Given the description of an element on the screen output the (x, y) to click on. 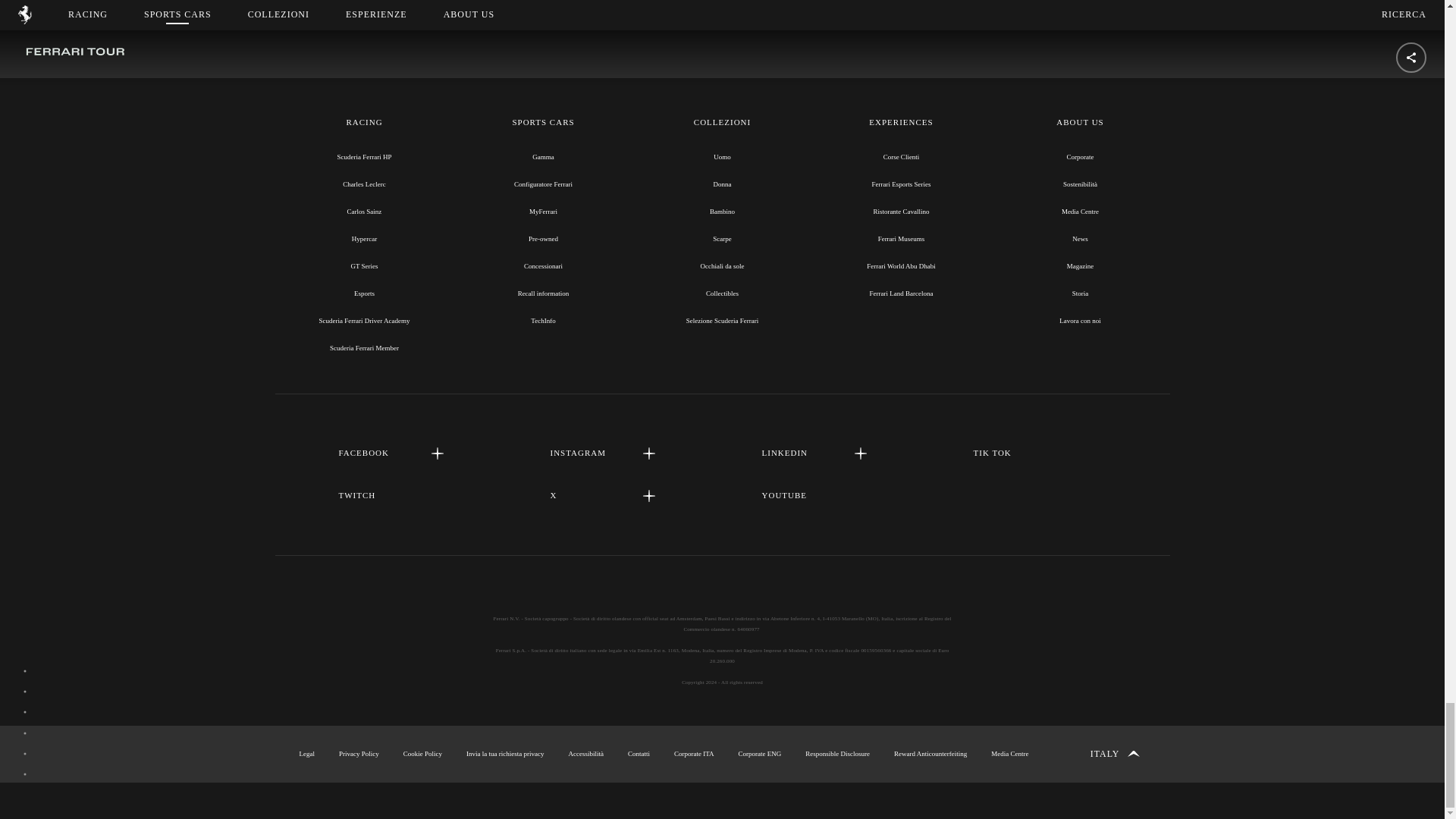
Hypercar (364, 238)
Scuderia Ferrari HP (363, 156)
Charles Leclerc (363, 184)
ISCRIVITI (721, 2)
Carlos Sainz (364, 211)
GT Series (363, 266)
